Given the description of an element on the screen output the (x, y) to click on. 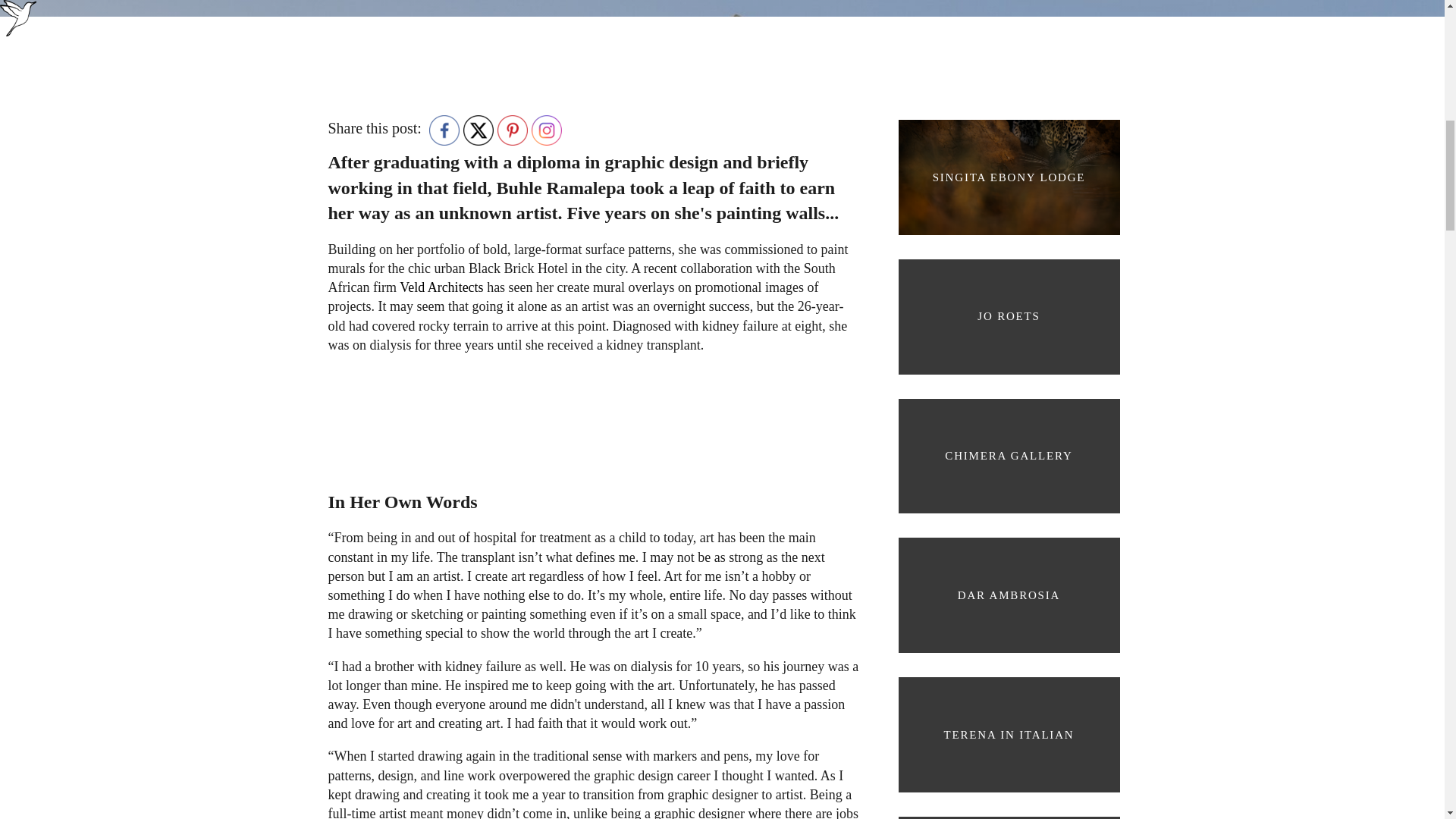
JO ROETS (1008, 316)
SINGITA EBONY LODGE (1008, 177)
Instagram (546, 130)
SUSSURRO (1008, 811)
DAR AMBROSIA (1008, 595)
CHIMERA GALLERY (1008, 456)
Twitter (478, 130)
Pinterest (512, 130)
Veld Architects (440, 287)
TERENA IN ITALIAN (1008, 734)
